Given the description of an element on the screen output the (x, y) to click on. 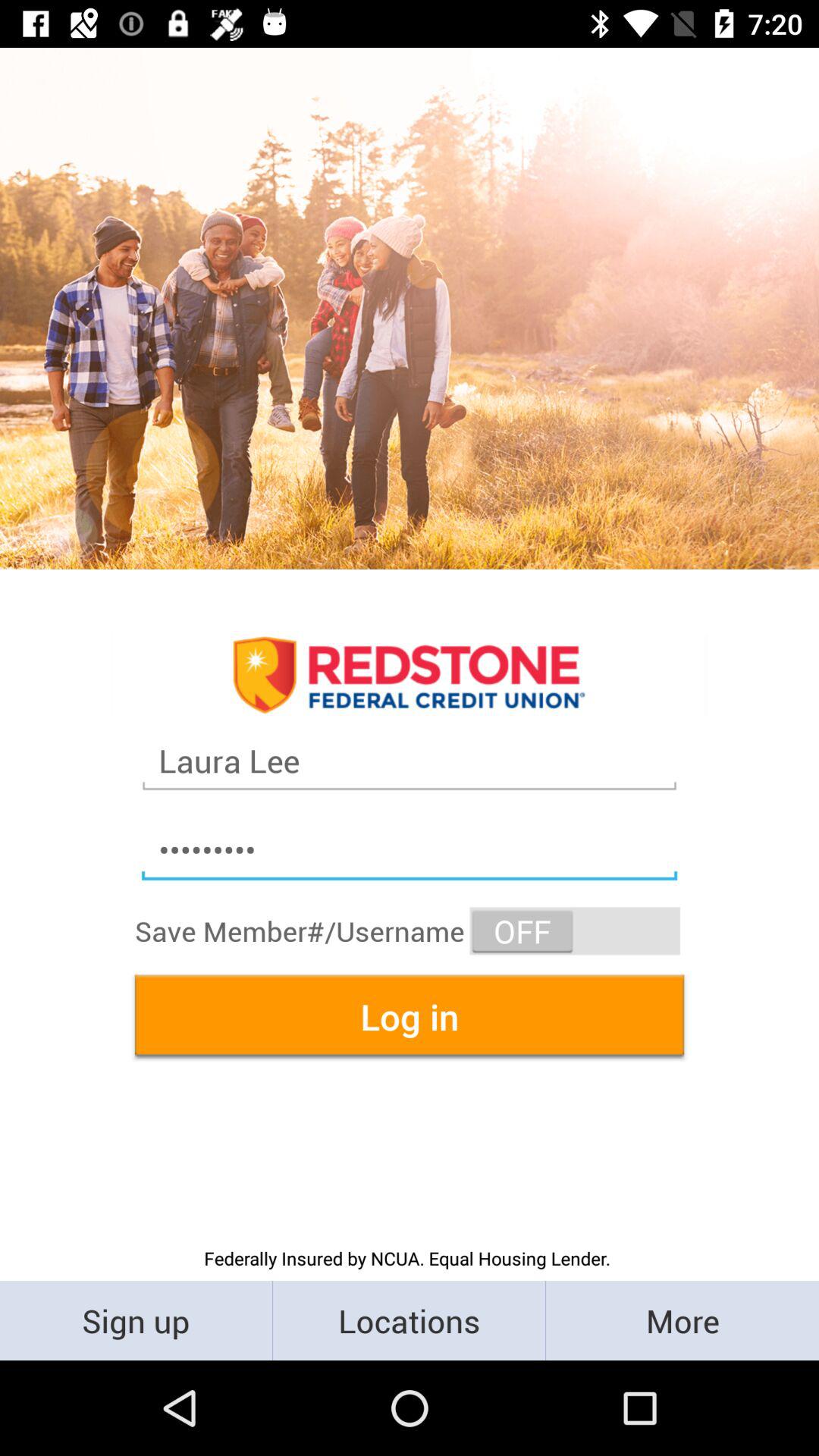
press item on the right (574, 930)
